Given the description of an element on the screen output the (x, y) to click on. 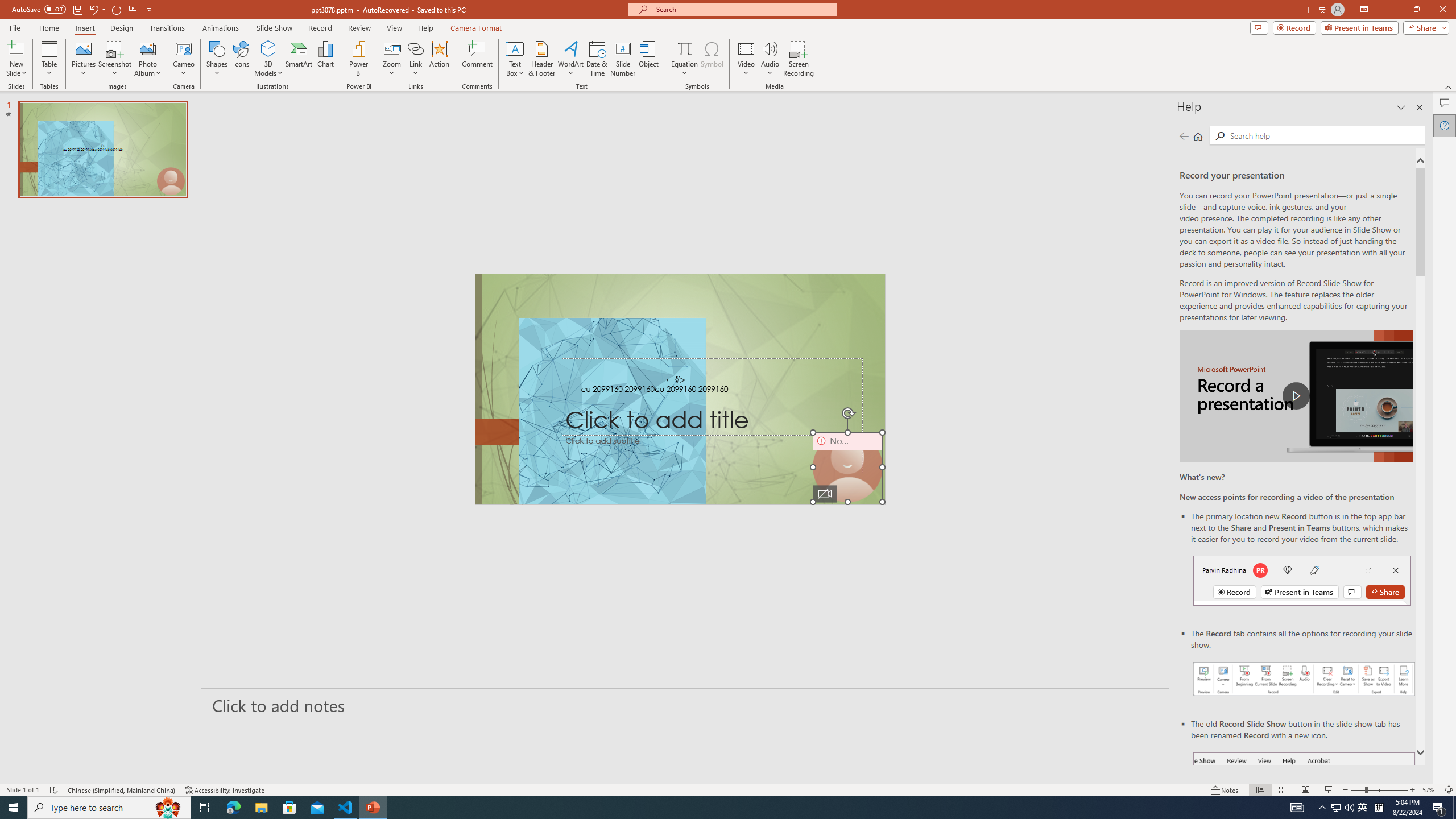
Chart... (325, 58)
Screenshot (114, 58)
Camera Format (475, 28)
Screen Recording... (798, 58)
Video (745, 58)
play Record a Presentation (1296, 395)
